Given the description of an element on the screen output the (x, y) to click on. 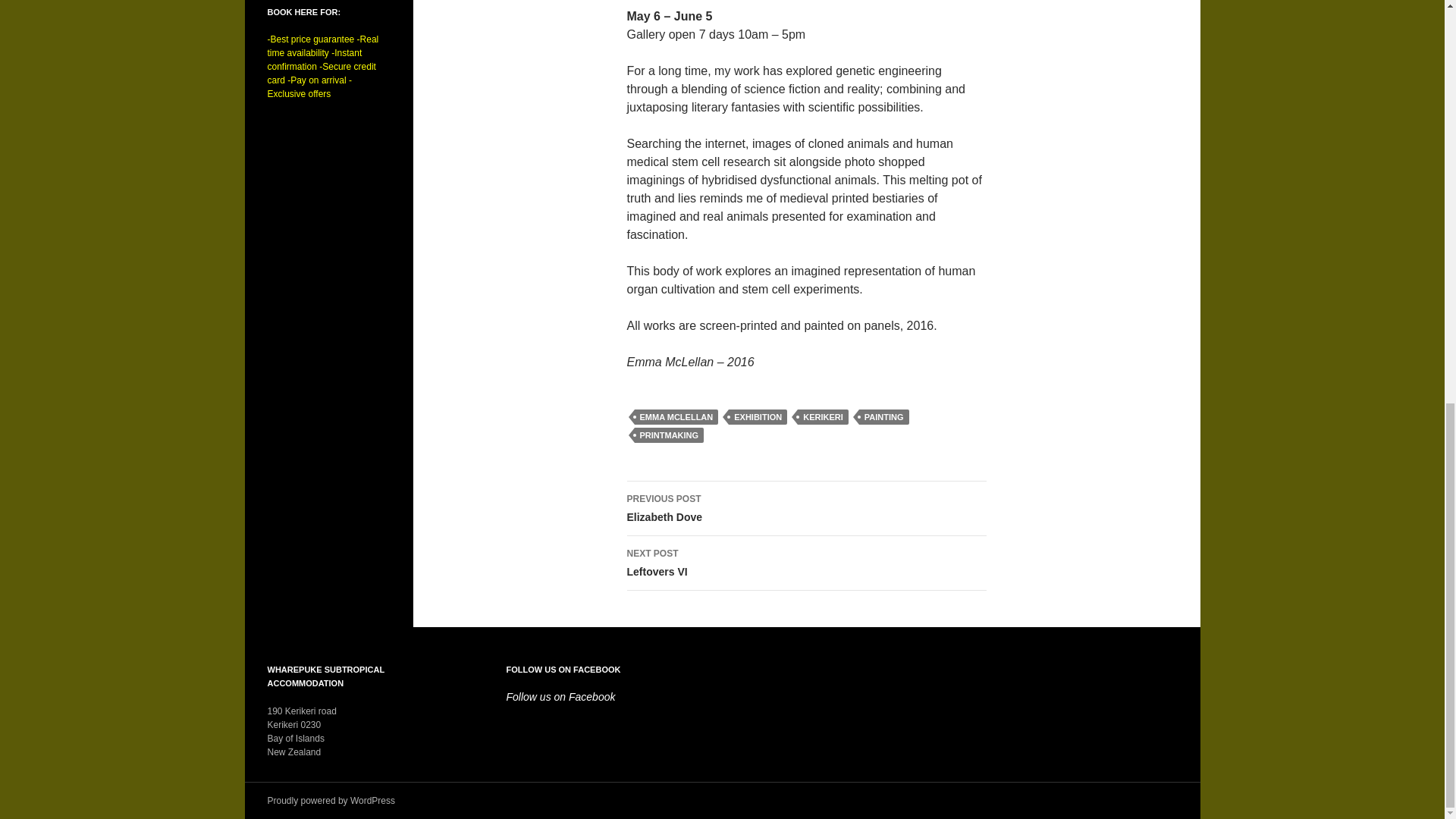
PRINTMAKING (668, 435)
PAINTING (883, 417)
Follow us on Facebook (560, 696)
KERIKERI (822, 417)
EXHIBITION (758, 417)
Proudly powered by WordPress (330, 800)
EMMA MCLELLAN (675, 417)
FOLLOW US ON FACEBOOK (805, 563)
